Given the description of an element on the screen output the (x, y) to click on. 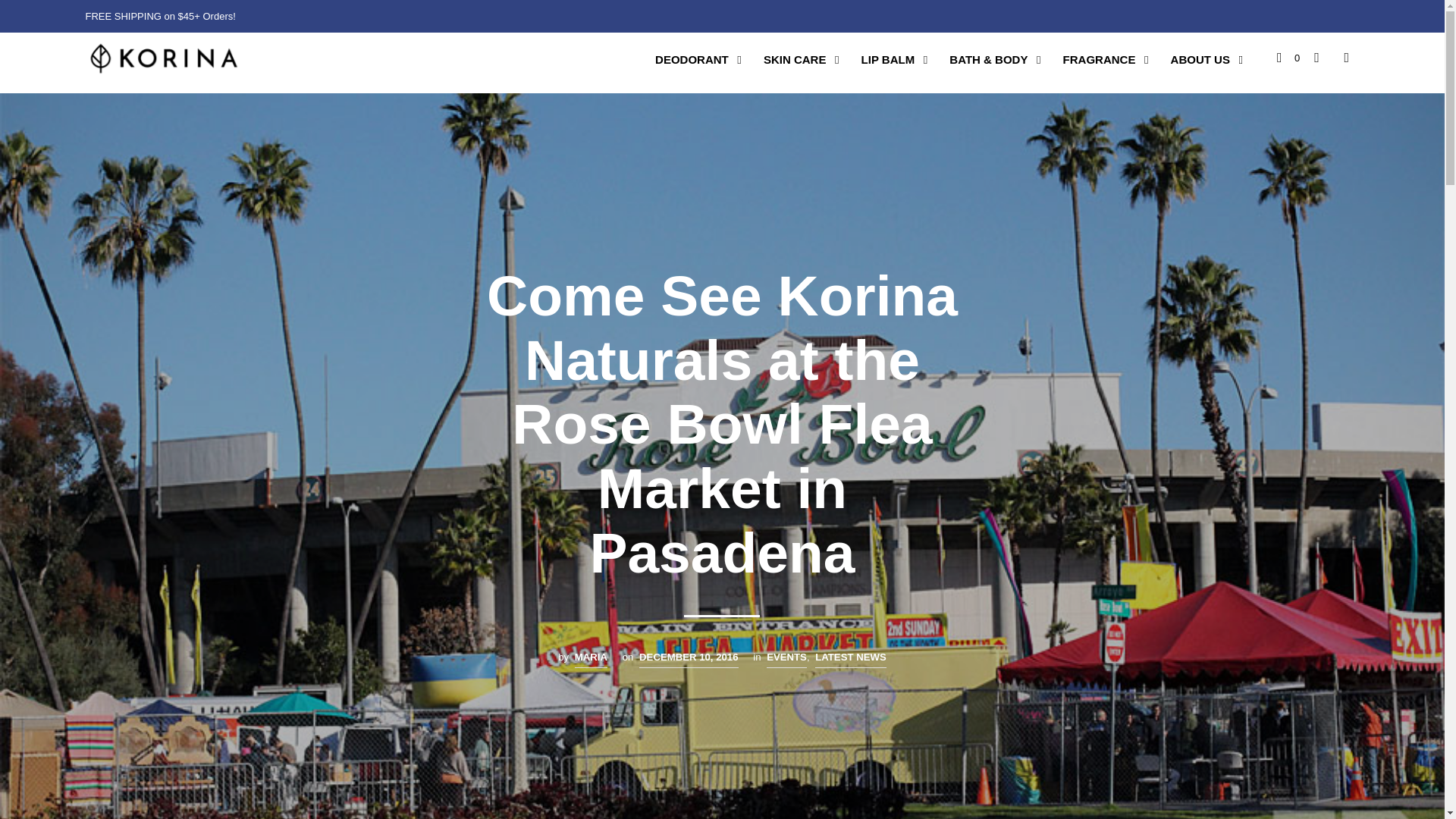
DECEMBER 10, 2016 (688, 659)
ABOUT US (1199, 59)
0 (1288, 58)
View all posts by Maria (591, 659)
LIP BALM (888, 59)
SKIN CARE (795, 59)
DEODORANT (691, 59)
MARIA (591, 659)
FRAGRANCE (1099, 59)
